Given the description of an element on the screen output the (x, y) to click on. 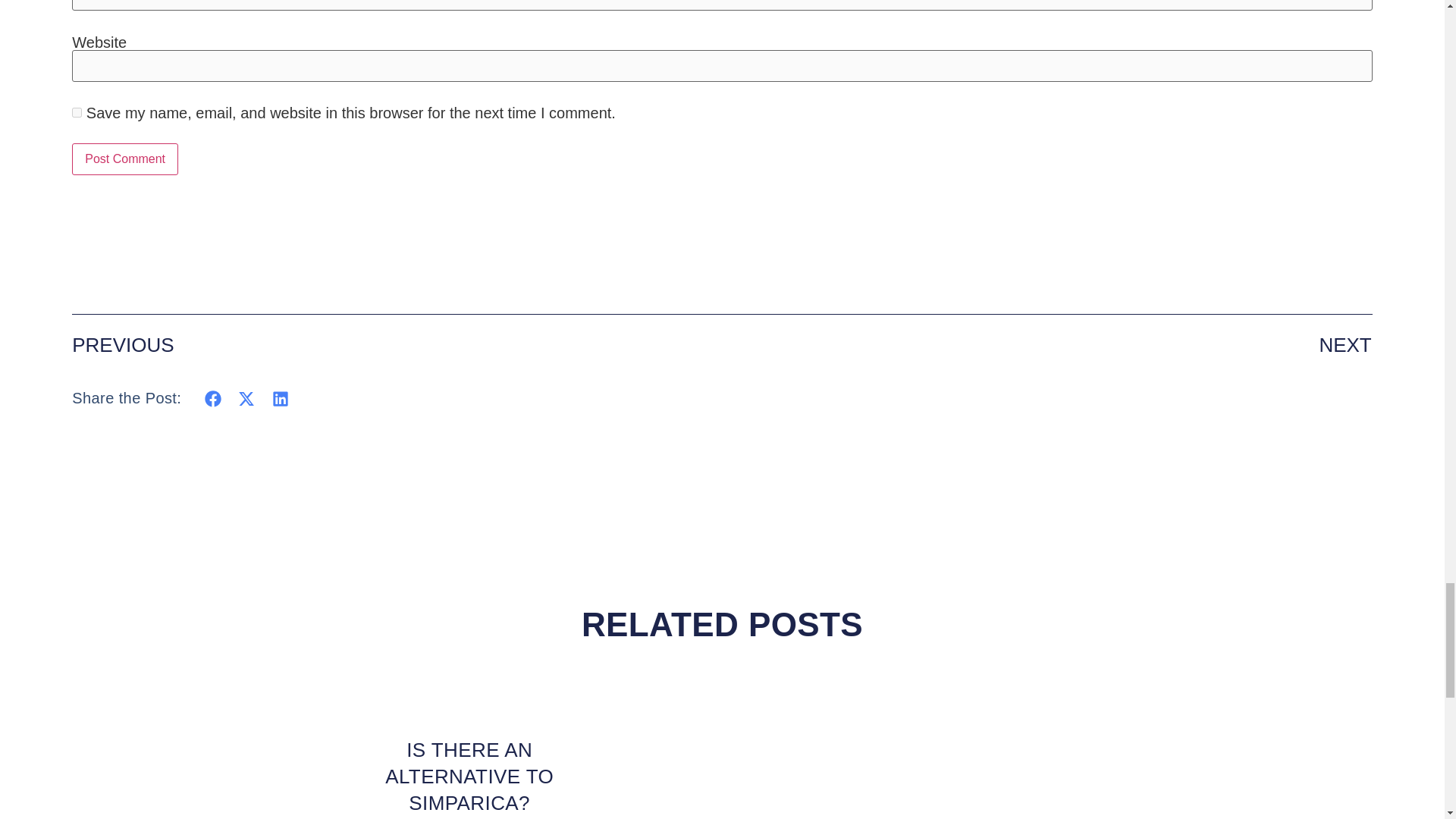
Post Comment (124, 159)
PREVIOUS (396, 344)
yes (76, 112)
Post Comment (124, 159)
NEXT (1046, 344)
